Given the description of an element on the screen output the (x, y) to click on. 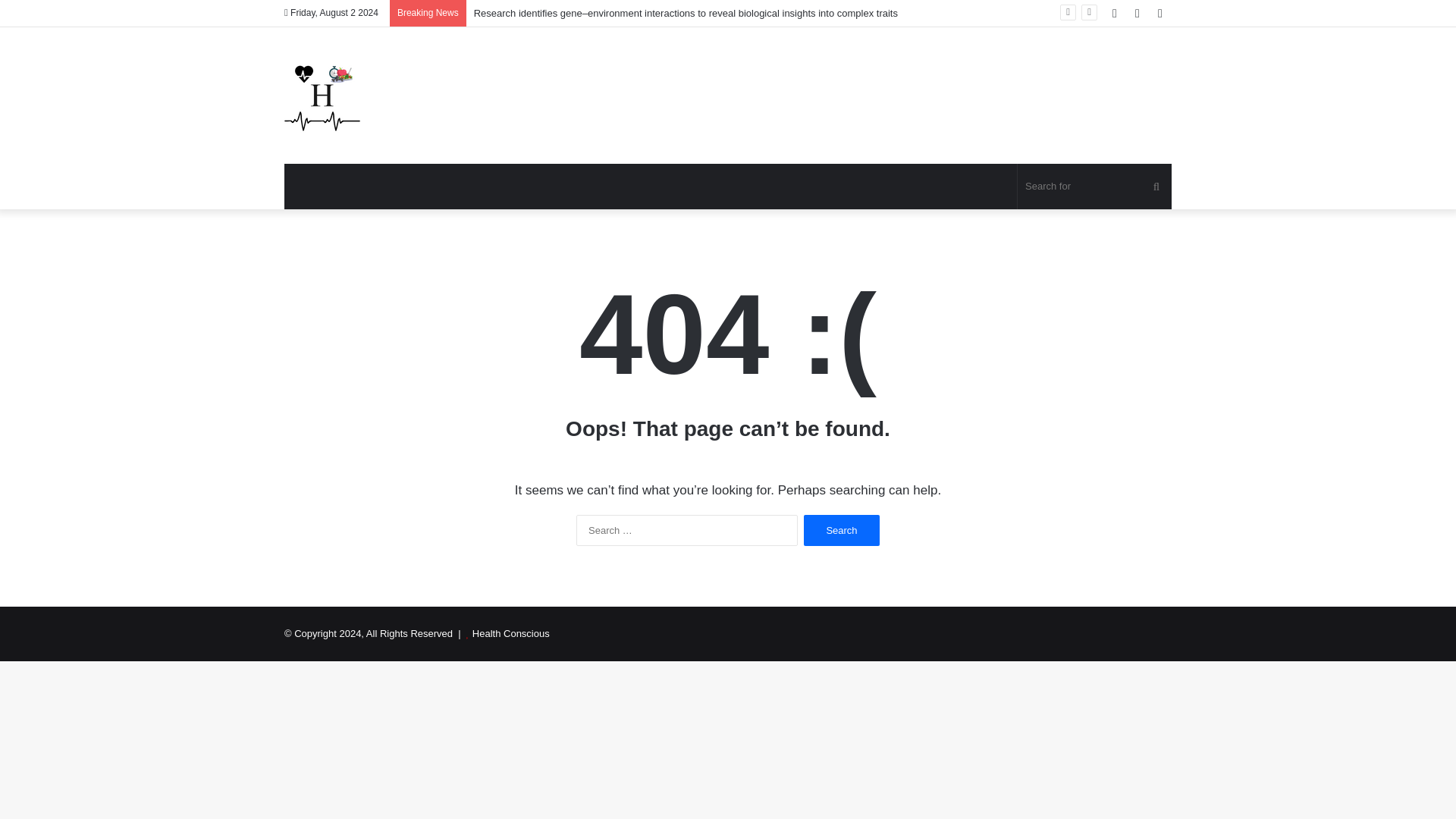
Search (841, 530)
Search (841, 530)
Search for (1094, 186)
Health Conscious (510, 633)
Search (841, 530)
Health Conscious (321, 95)
